Given the description of an element on the screen output the (x, y) to click on. 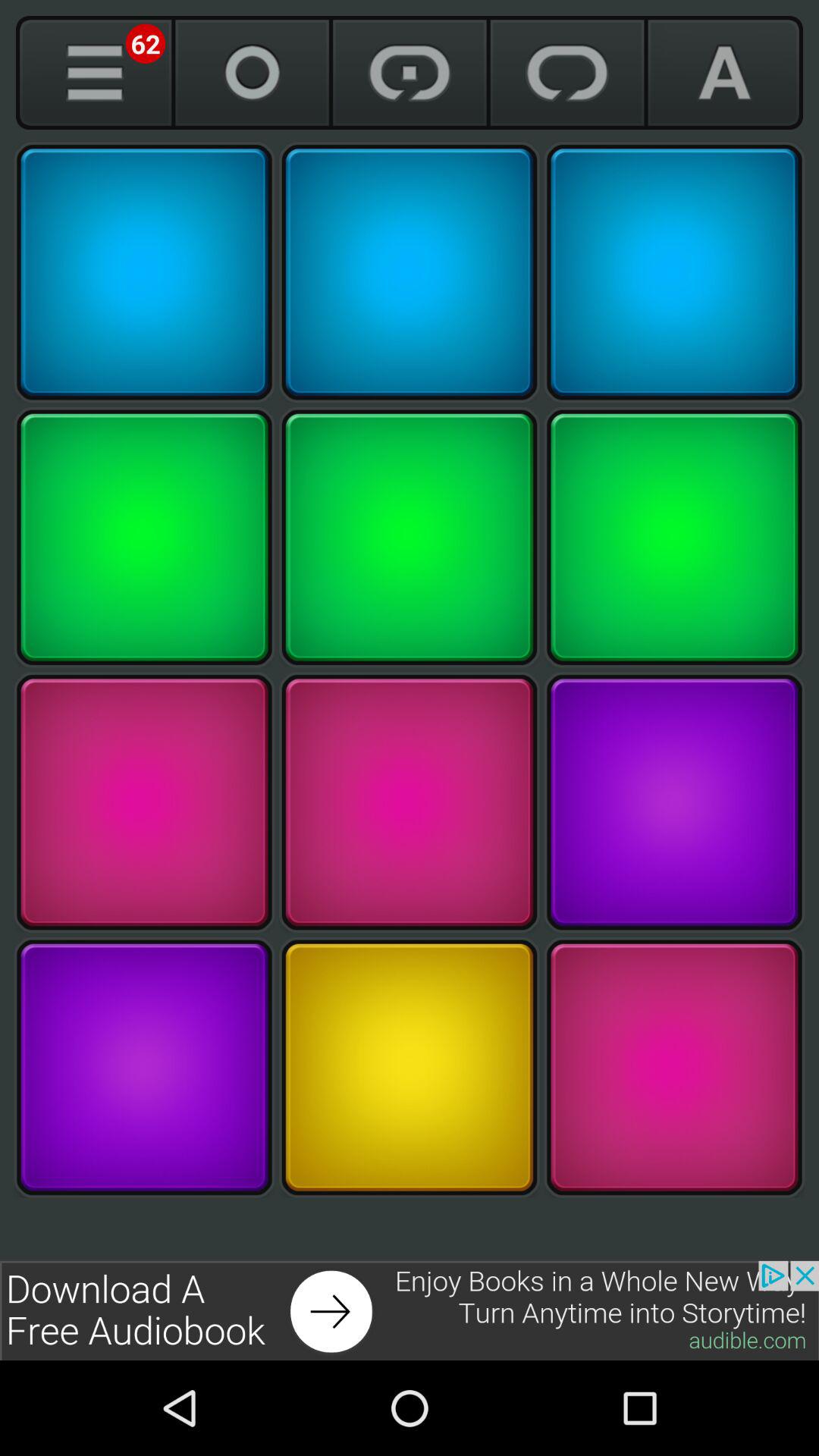
audible advertisement (409, 1310)
